Given the description of an element on the screen output the (x, y) to click on. 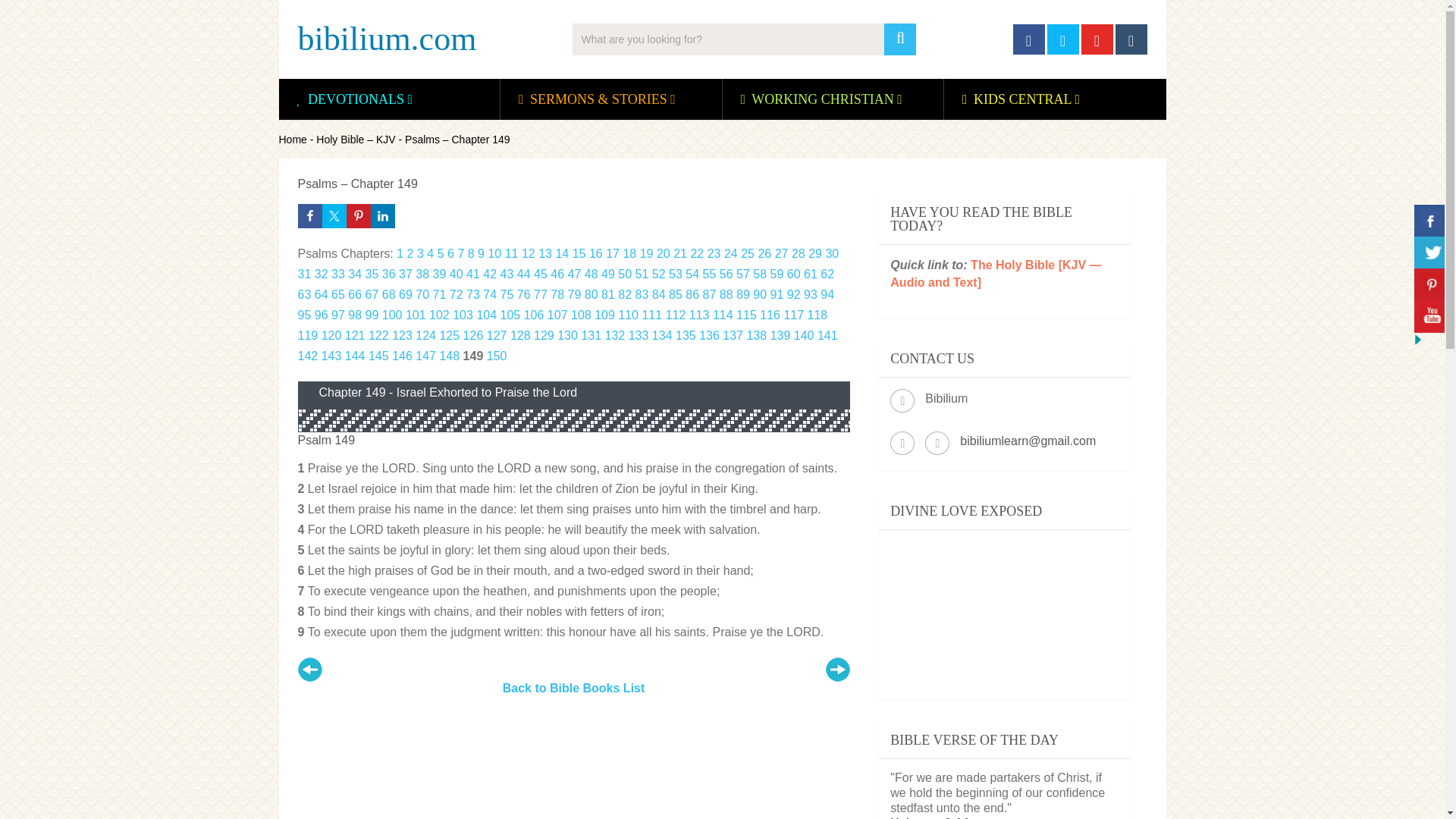
WORKING CHRISTIAN (822, 98)
22 (696, 253)
Home (293, 139)
KIDS CENTRAL (1021, 98)
19 (646, 253)
10 (493, 253)
Share on LinkedIn (381, 215)
Share on Pinterest (357, 215)
Psalms - Chapter 149 (836, 669)
18 (629, 253)
